Given the description of an element on the screen output the (x, y) to click on. 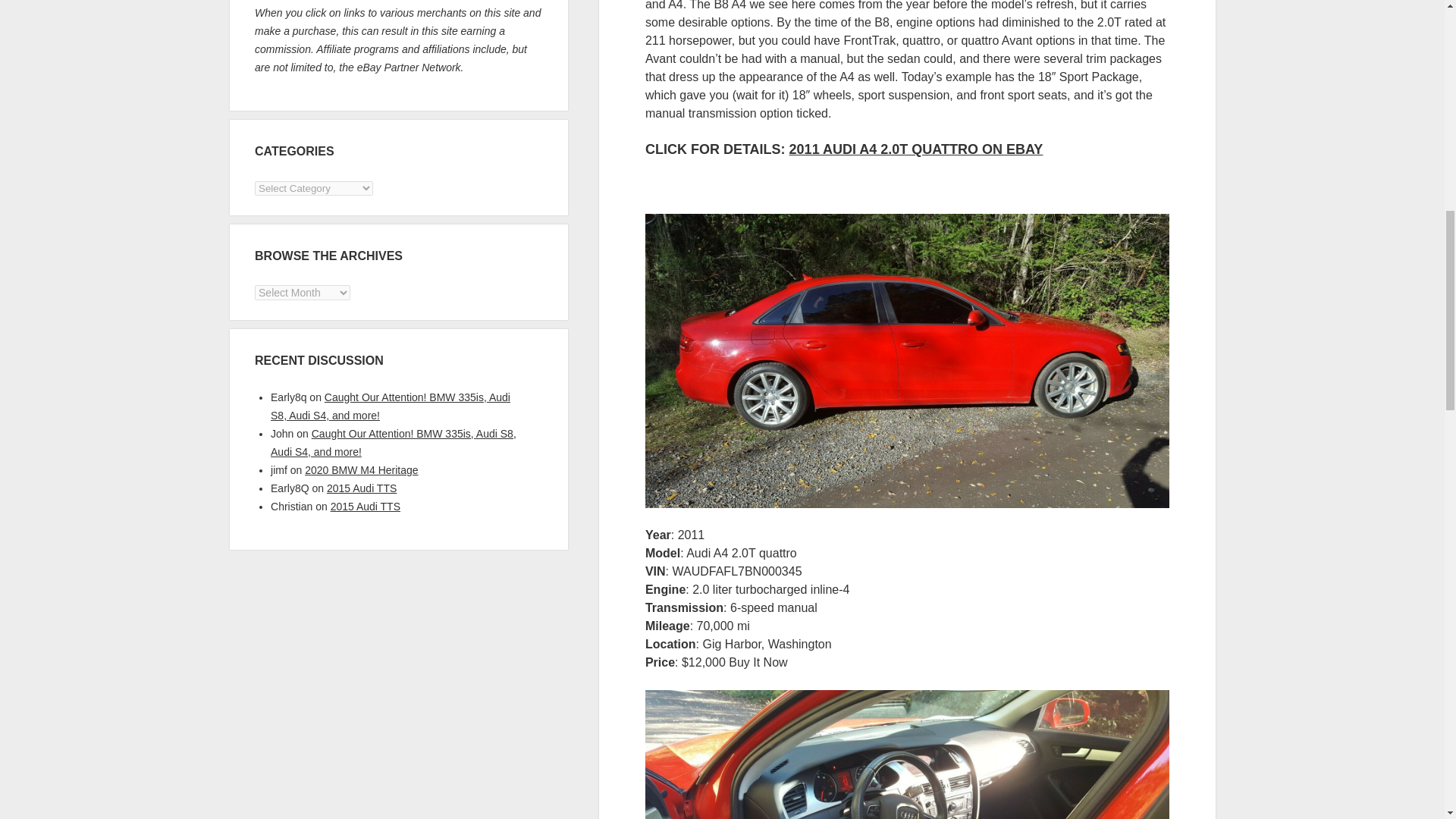
Caught Our Attention! BMW 335is, Audi S8, Audi S4, and more! (393, 442)
2011 AUDI A4 2.0T QUATTRO ON EBAY (916, 149)
2015 Audi TTS (365, 506)
2015 Audi TTS (361, 488)
2020 BMW M4 Heritage (360, 469)
Caught Our Attention! BMW 335is, Audi S8, Audi S4, and more! (390, 406)
